Given the description of an element on the screen output the (x, y) to click on. 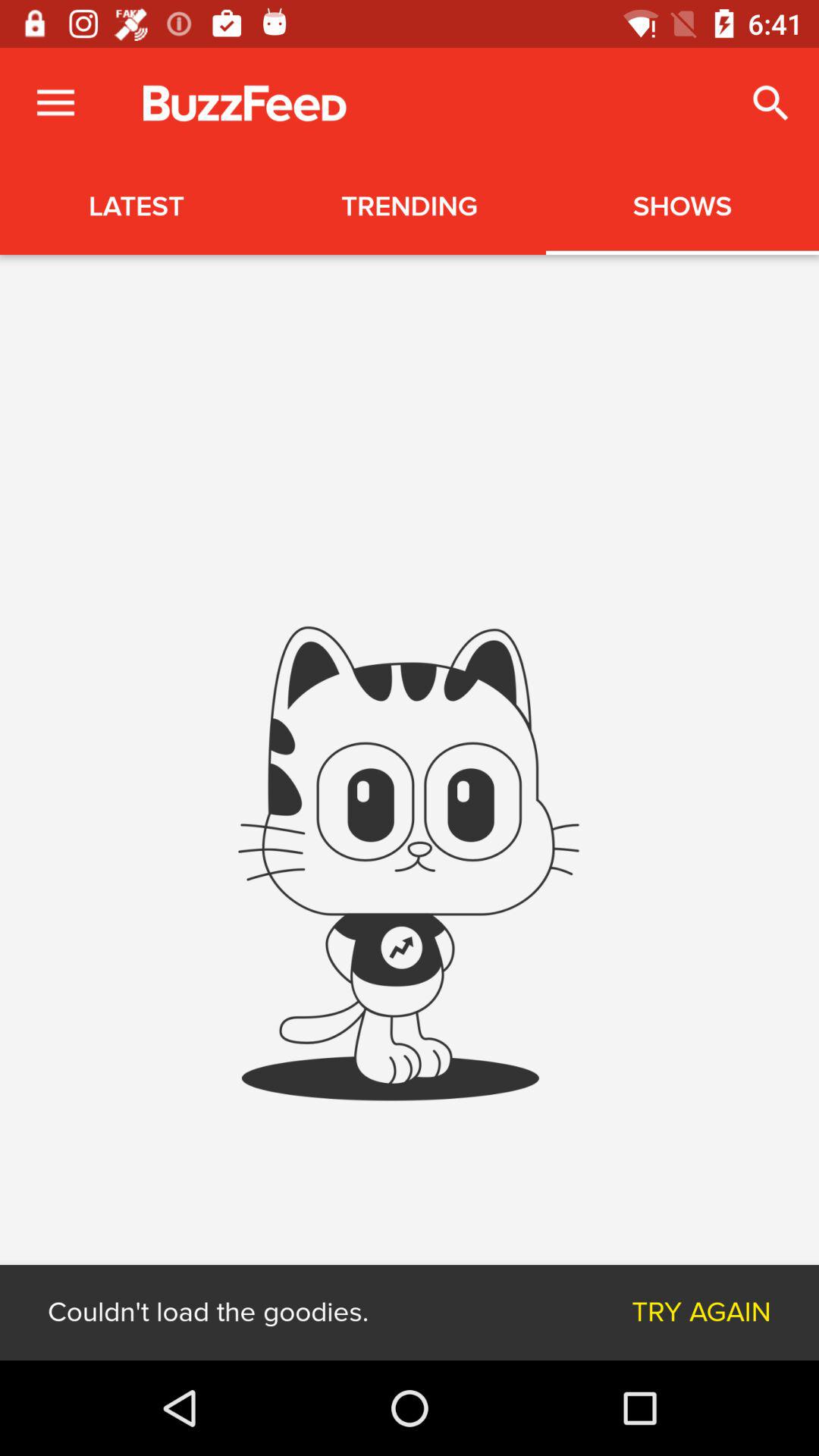
select item next to couldn t load (701, 1312)
